Given the description of an element on the screen output the (x, y) to click on. 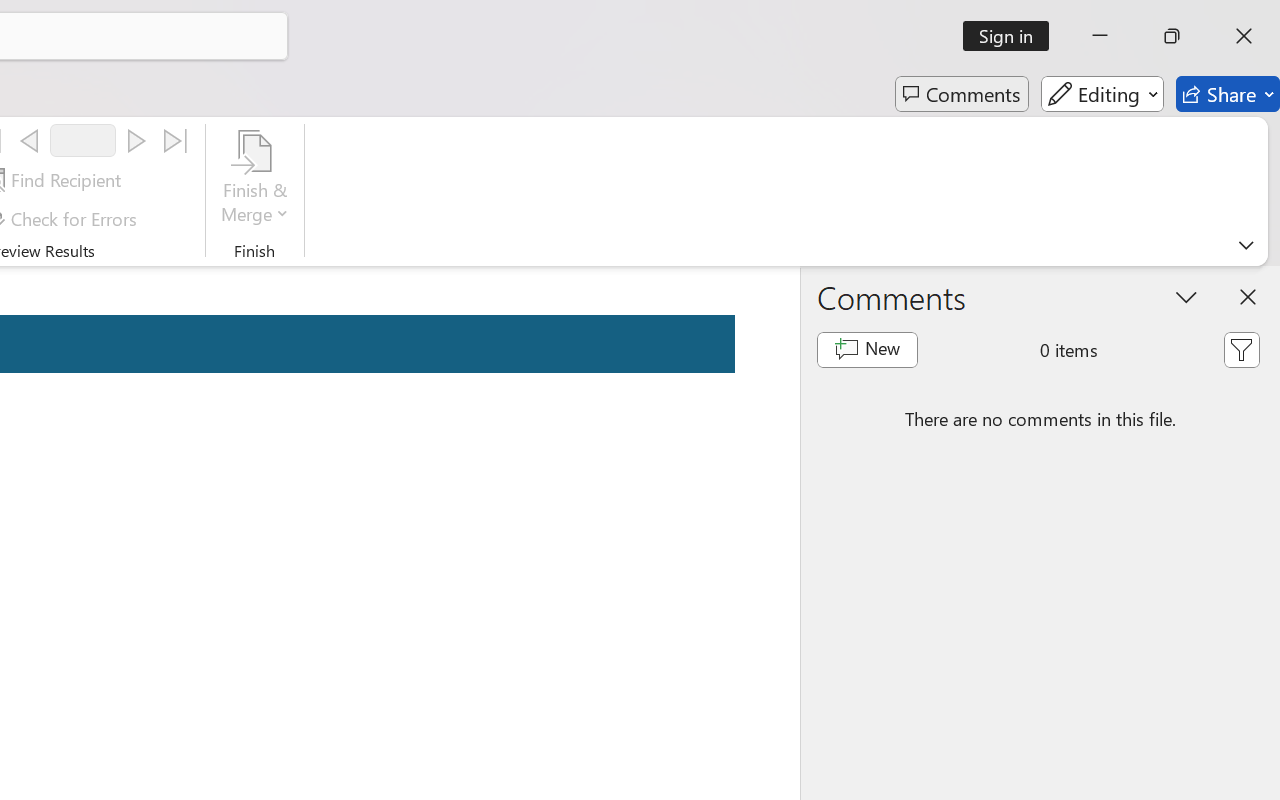
Next (136, 141)
Editing (1101, 94)
Sign in (1012, 35)
Last (175, 141)
Filter (1241, 350)
New comment (866, 350)
Finish & Merge (255, 179)
Record (83, 140)
